Given the description of an element on the screen output the (x, y) to click on. 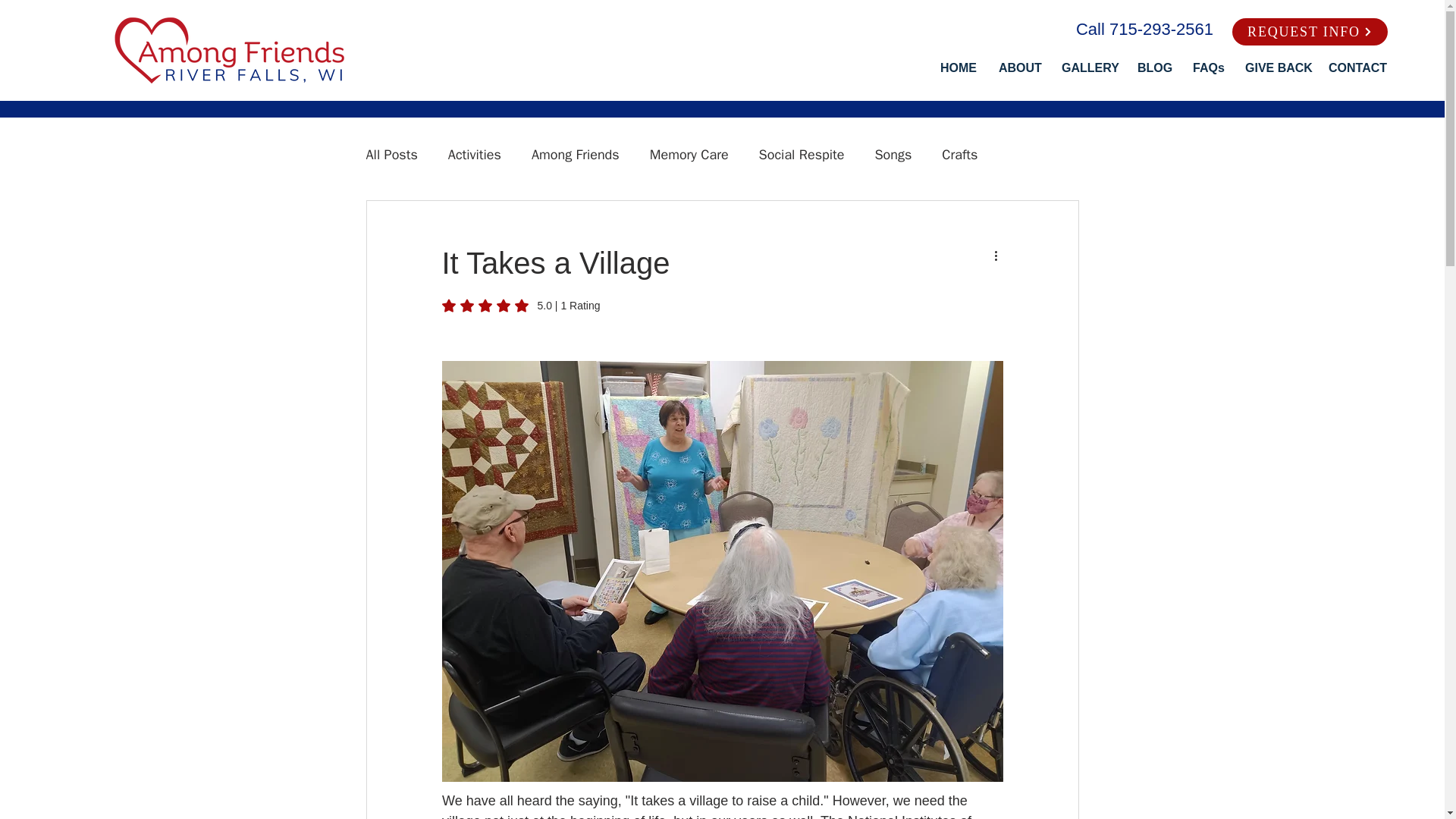
GIVE BACK (1275, 67)
Songs (893, 154)
GALLERY (1087, 67)
BLOG (1152, 67)
Memory Care (689, 154)
Crafts (959, 154)
REQUEST INFO (1309, 31)
ABOUT (1018, 67)
715-293-2561 (1160, 28)
Social Respite (801, 154)
Among Friends (575, 154)
CONTACT (1355, 67)
All Posts (390, 154)
HOME (957, 67)
Activities (474, 154)
